Given the description of an element on the screen output the (x, y) to click on. 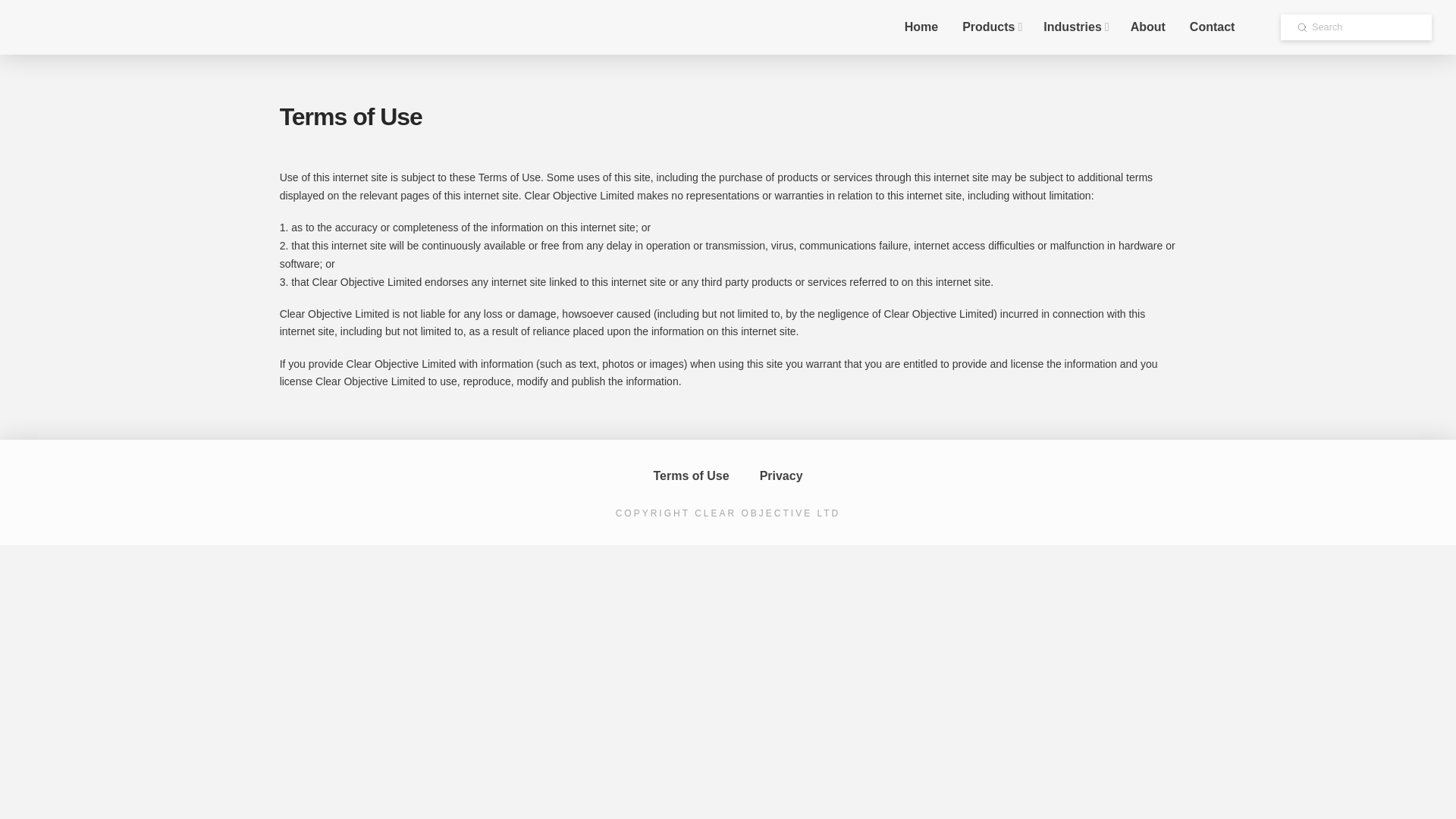
Terms of Use (690, 476)
Products (990, 27)
Privacy (781, 476)
Submit (1302, 27)
Industries (1074, 27)
About (1147, 27)
Home (921, 27)
Contact (1212, 27)
